Given the description of an element on the screen output the (x, y) to click on. 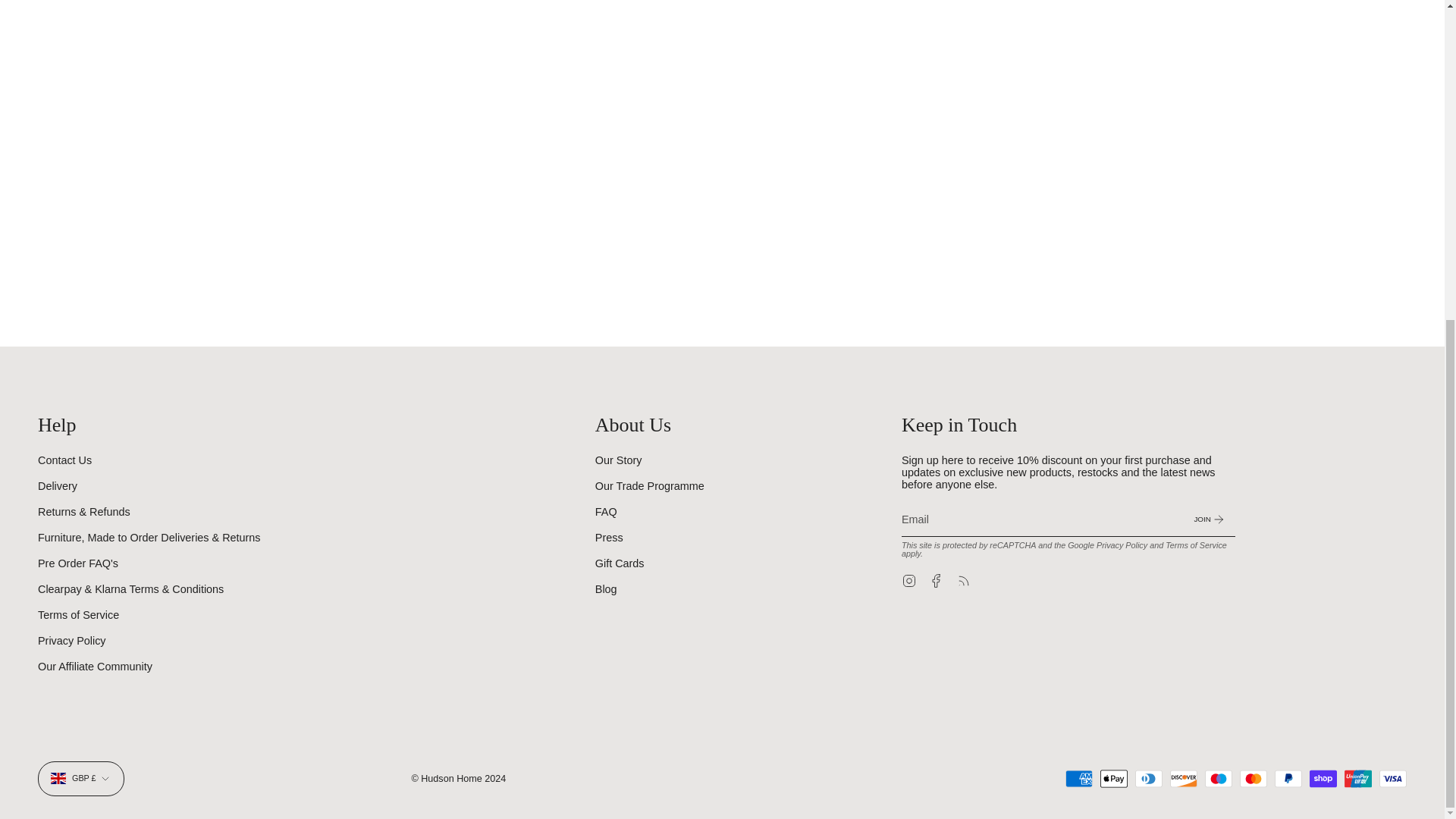
Hudson Home on Instagram (909, 580)
Hudson Home on Feed (963, 580)
Hudson Home on Facebook (935, 580)
